Given the description of an element on the screen output the (x, y) to click on. 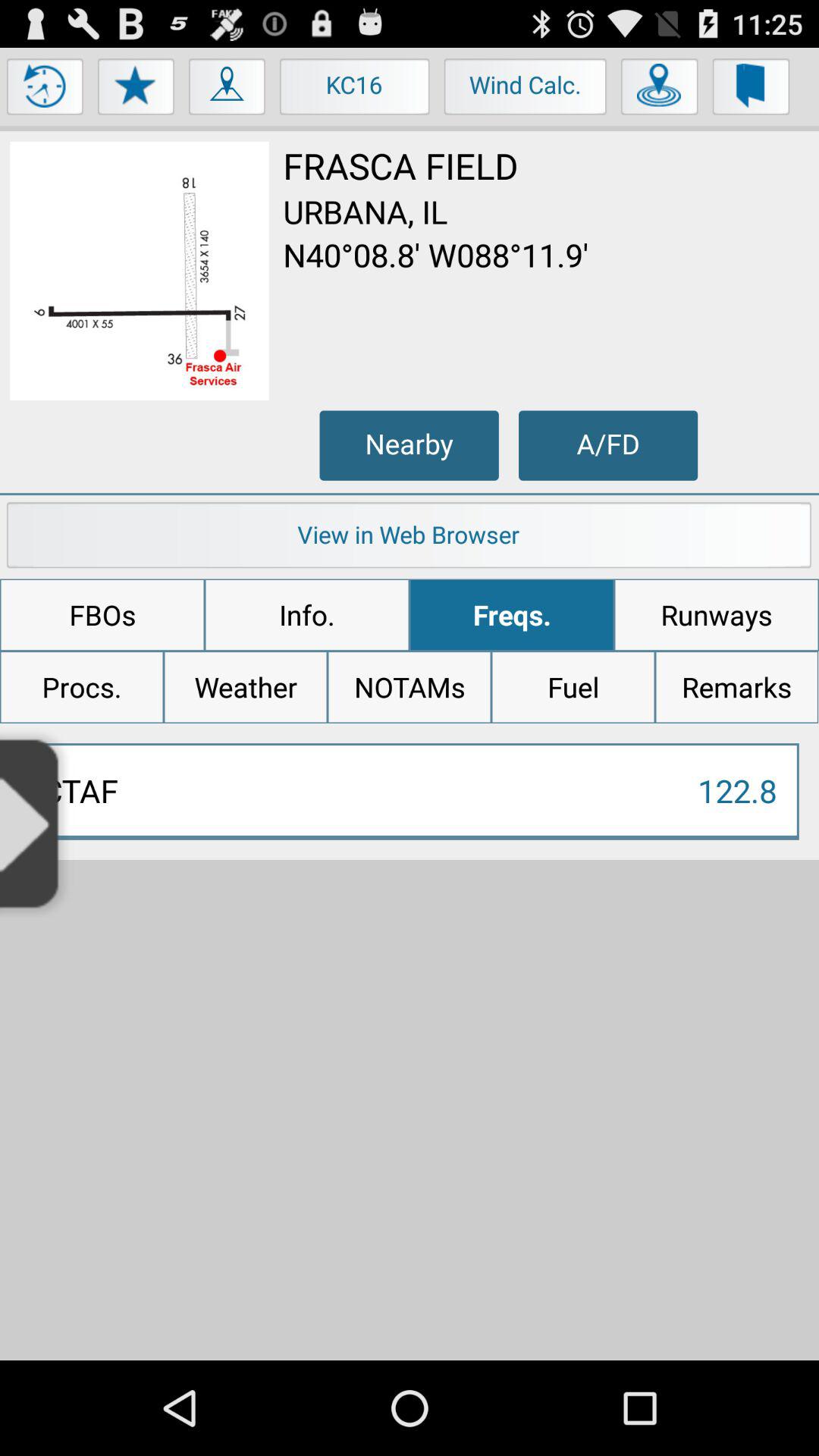
choose the app to the right of freqs. (716, 615)
